Given the description of an element on the screen output the (x, y) to click on. 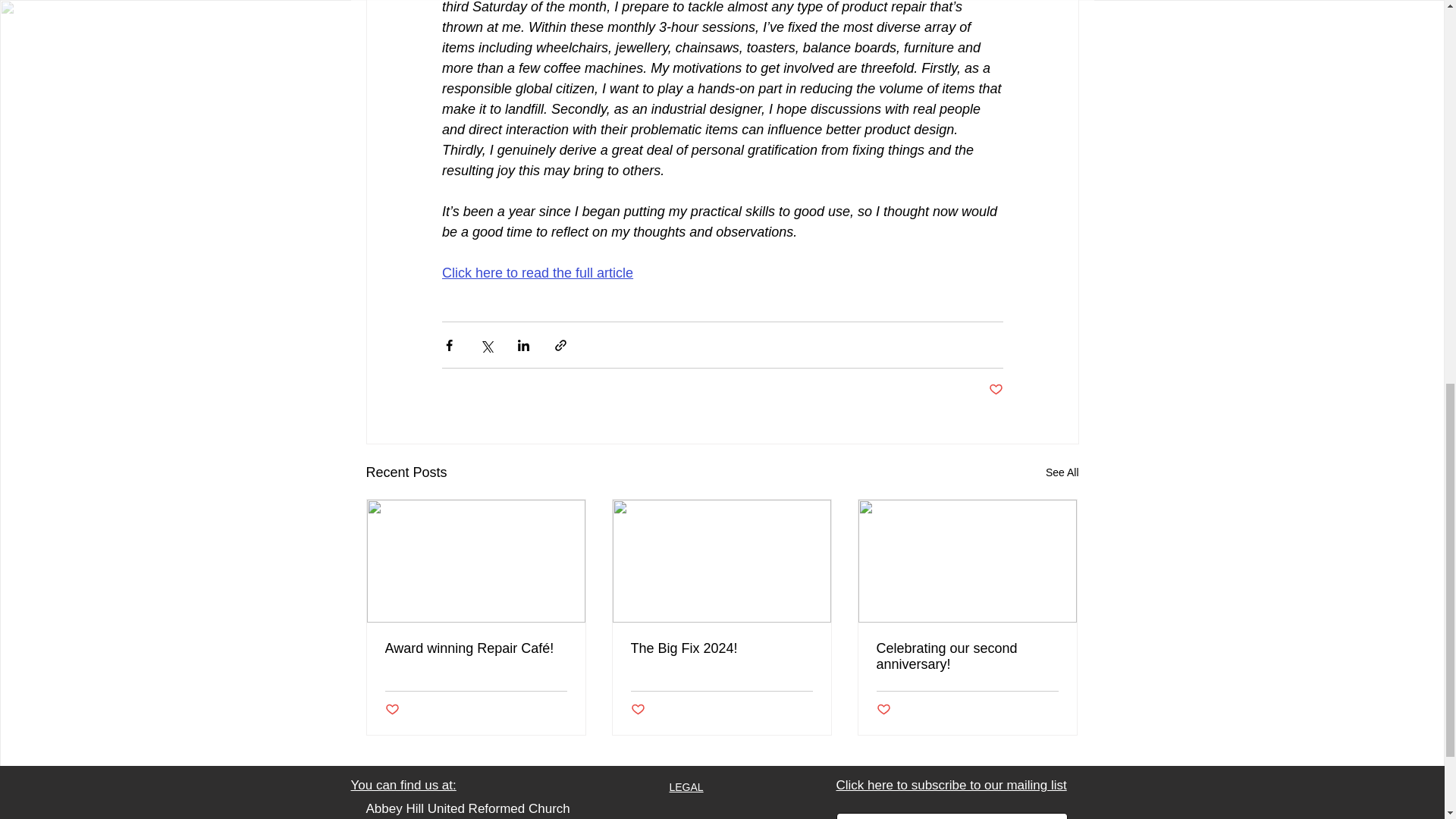
Post not marked as liked (637, 709)
Post not marked as liked (391, 709)
Celebrating our second anniversary! (967, 656)
You can find us at: (402, 785)
Click here to read the full article (536, 272)
Click here to subscribe to our mailing list (950, 785)
Post not marked as liked (883, 709)
See All (1061, 472)
Abbey Hill United Reformed Church (467, 808)
Post not marked as liked (995, 390)
